Given the description of an element on the screen output the (x, y) to click on. 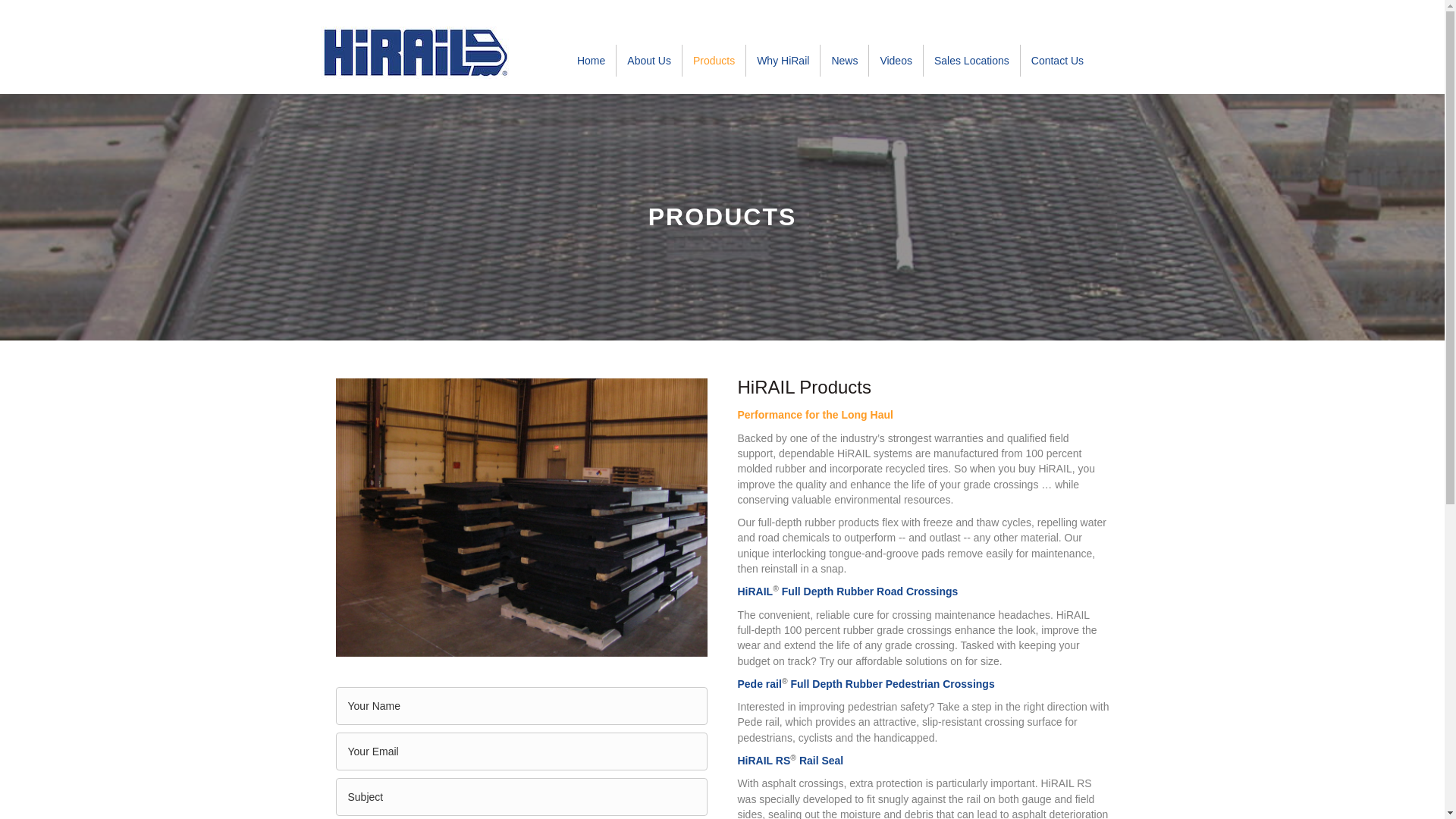
News (844, 60)
Products (713, 60)
Contact Us (1057, 60)
Videos (896, 60)
Rail Seal (821, 760)
Why HiRail (782, 60)
Pede rail (758, 684)
HiRAIL RS (763, 760)
Full Depth Rubber Road Crossings (869, 591)
Home (590, 60)
About Us (648, 60)
HiRail Products (520, 517)
HiRAIL (754, 591)
Full Depth Rubber Pedestrian Crossings (892, 684)
Sales Locations (971, 60)
